Given the description of an element on the screen output the (x, y) to click on. 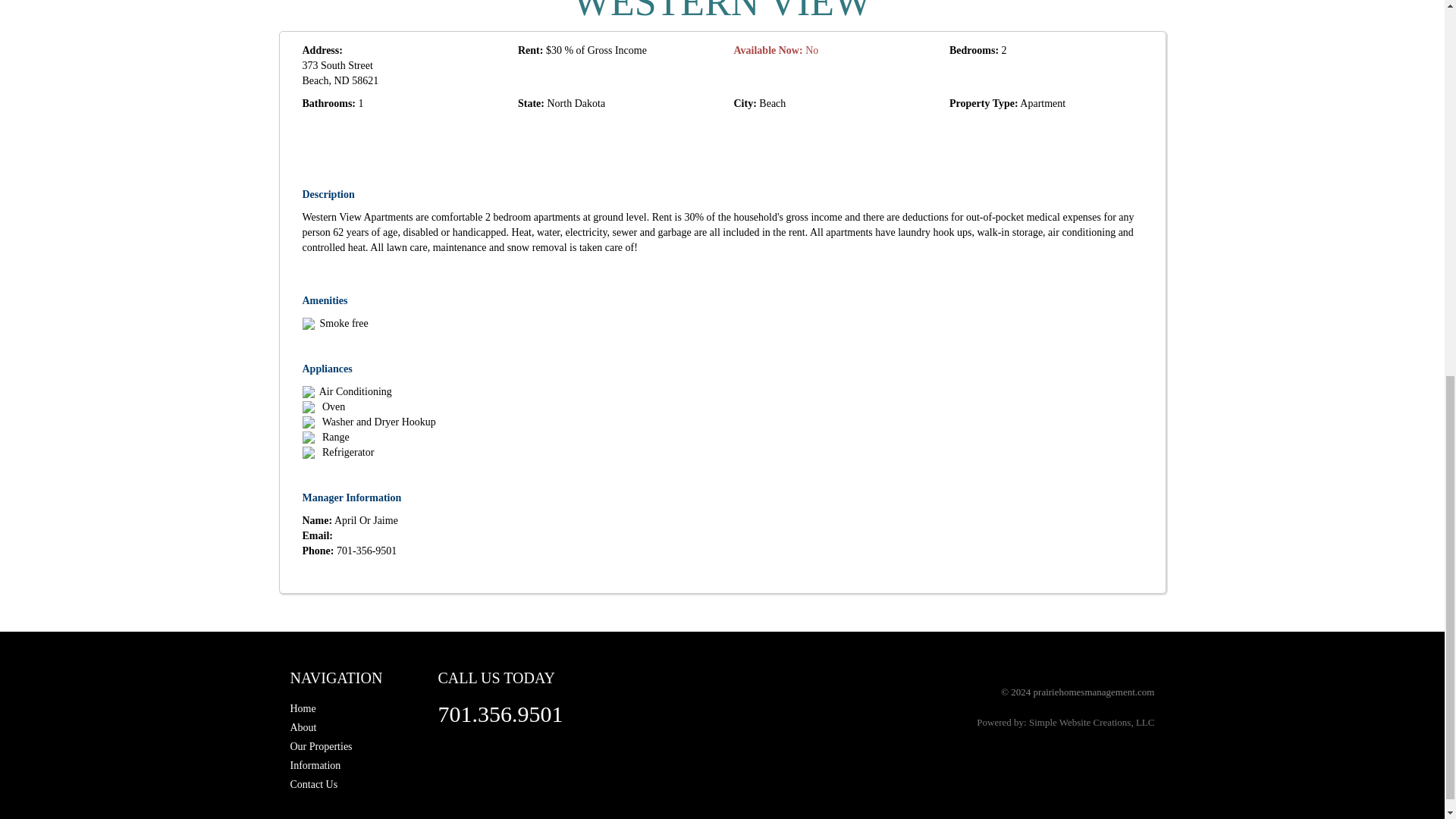
About (302, 727)
Home (302, 708)
Information (314, 765)
Contact Us (313, 784)
Powered by: Simple Website Creations, LLC (1065, 722)
Our Properties (320, 746)
